Given the description of an element on the screen output the (x, y) to click on. 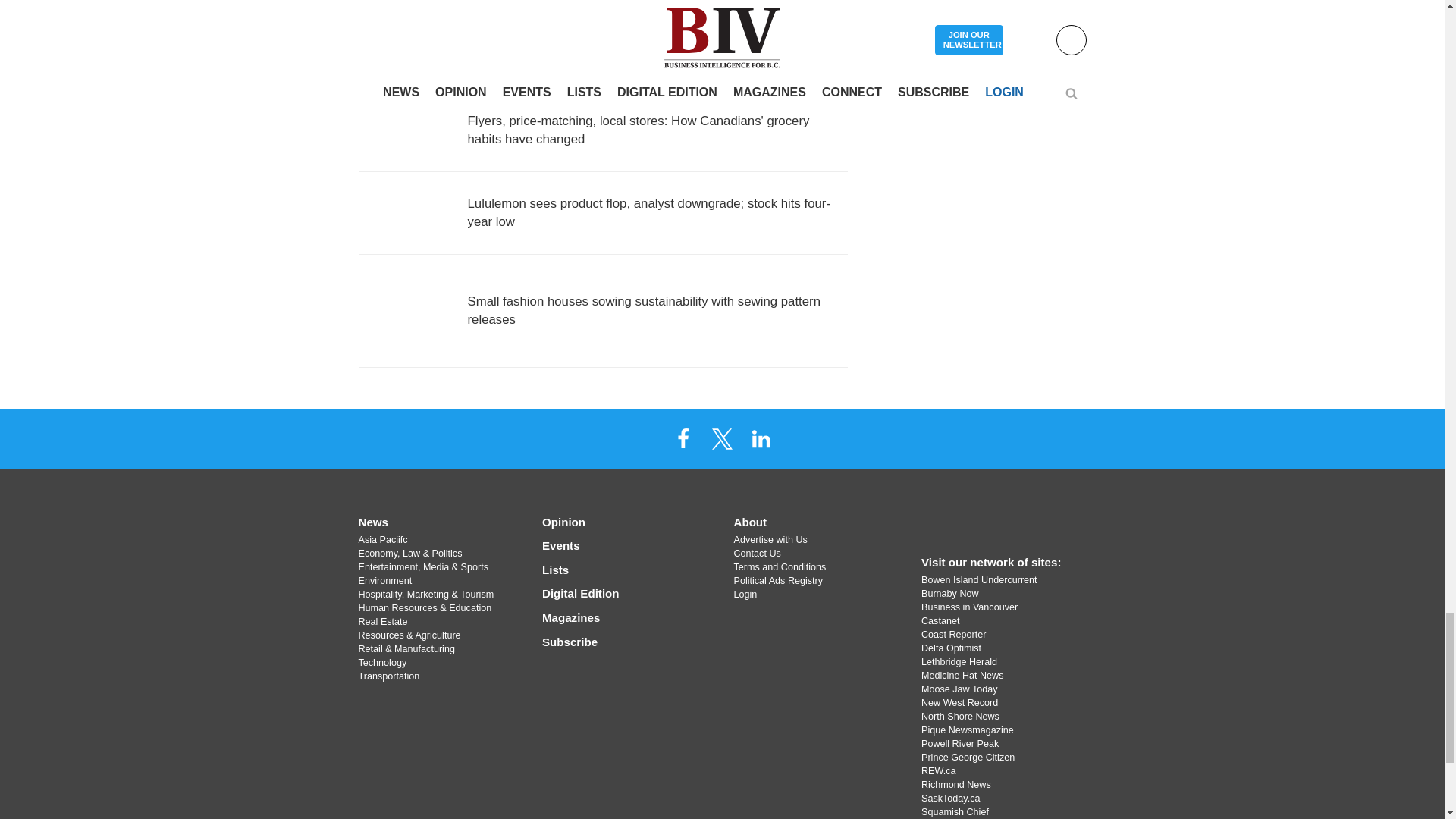
Facebook (683, 438)
LinkedIn (760, 438)
X (721, 438)
